Given the description of an element on the screen output the (x, y) to click on. 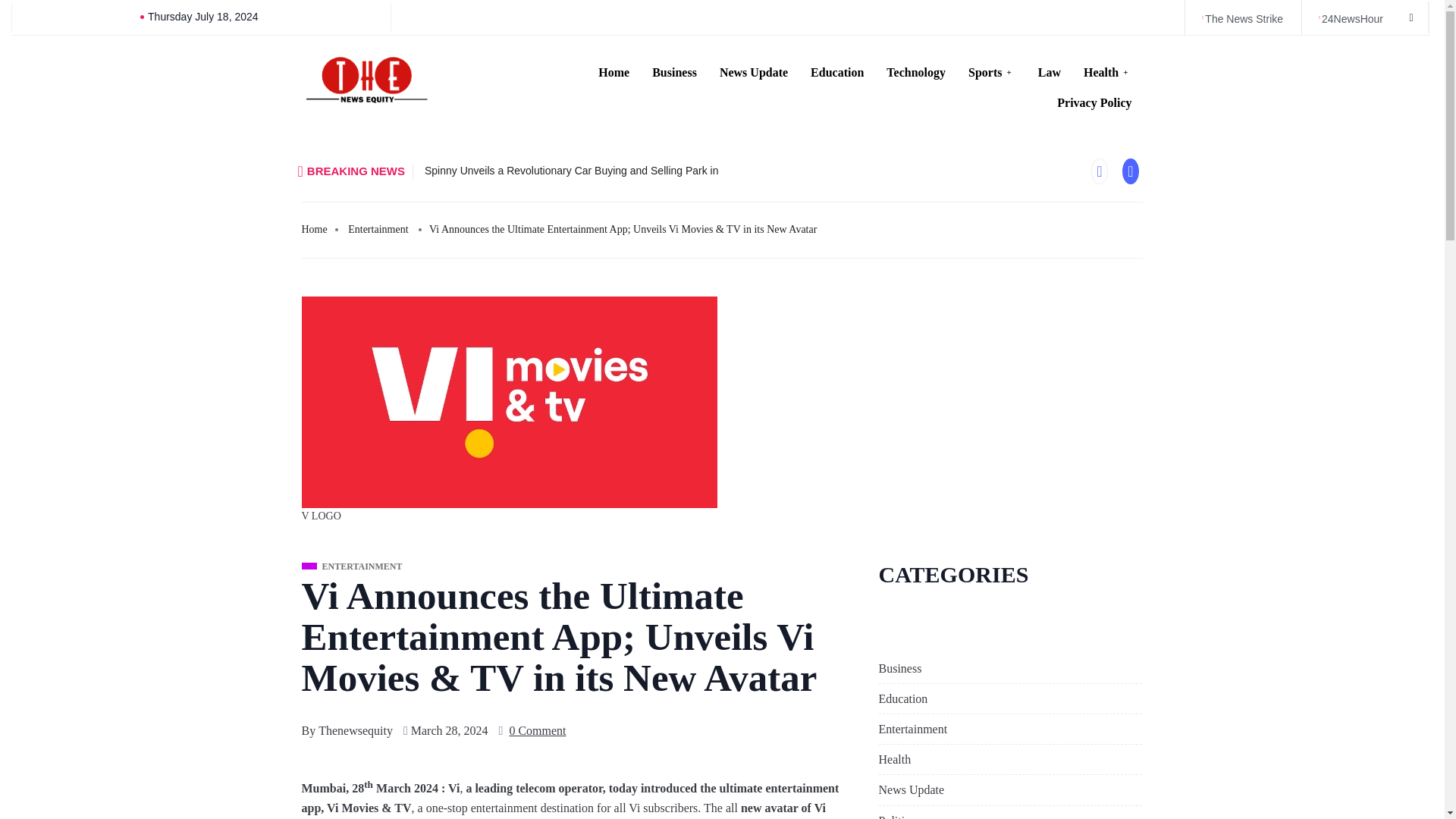
Entertainment (912, 728)
The News Strike (1240, 19)
ENTERTAINMENT (352, 566)
Education (837, 72)
Privacy Policy (1093, 102)
Business (899, 667)
Business (673, 72)
Thenewsequity (355, 731)
Technology (915, 72)
Law (1048, 72)
Health (894, 759)
Education (902, 698)
Home (613, 72)
0 Comment (537, 731)
